Given the description of an element on the screen output the (x, y) to click on. 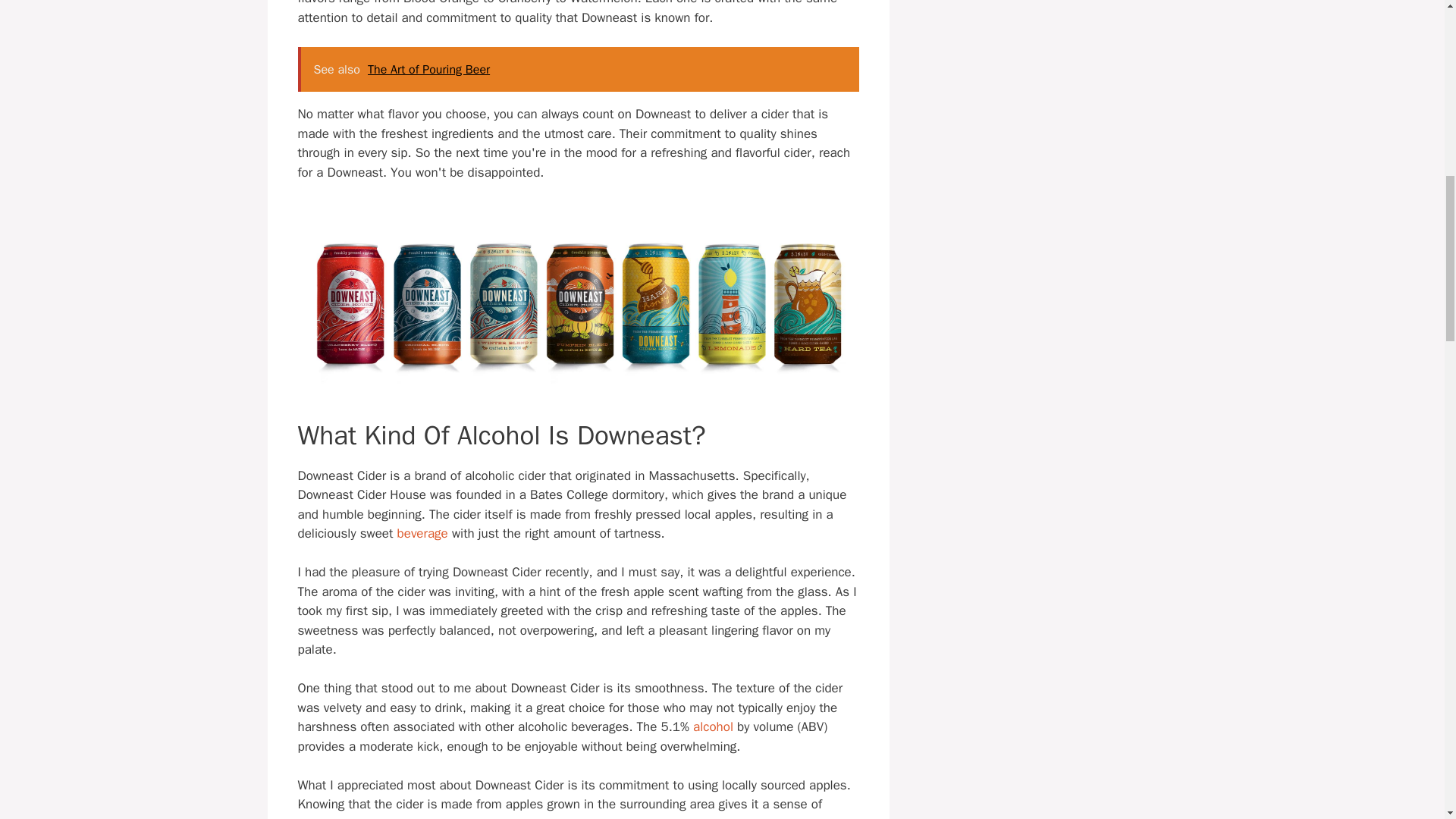
downeast flavors (578, 310)
